Given the description of an element on the screen output the (x, y) to click on. 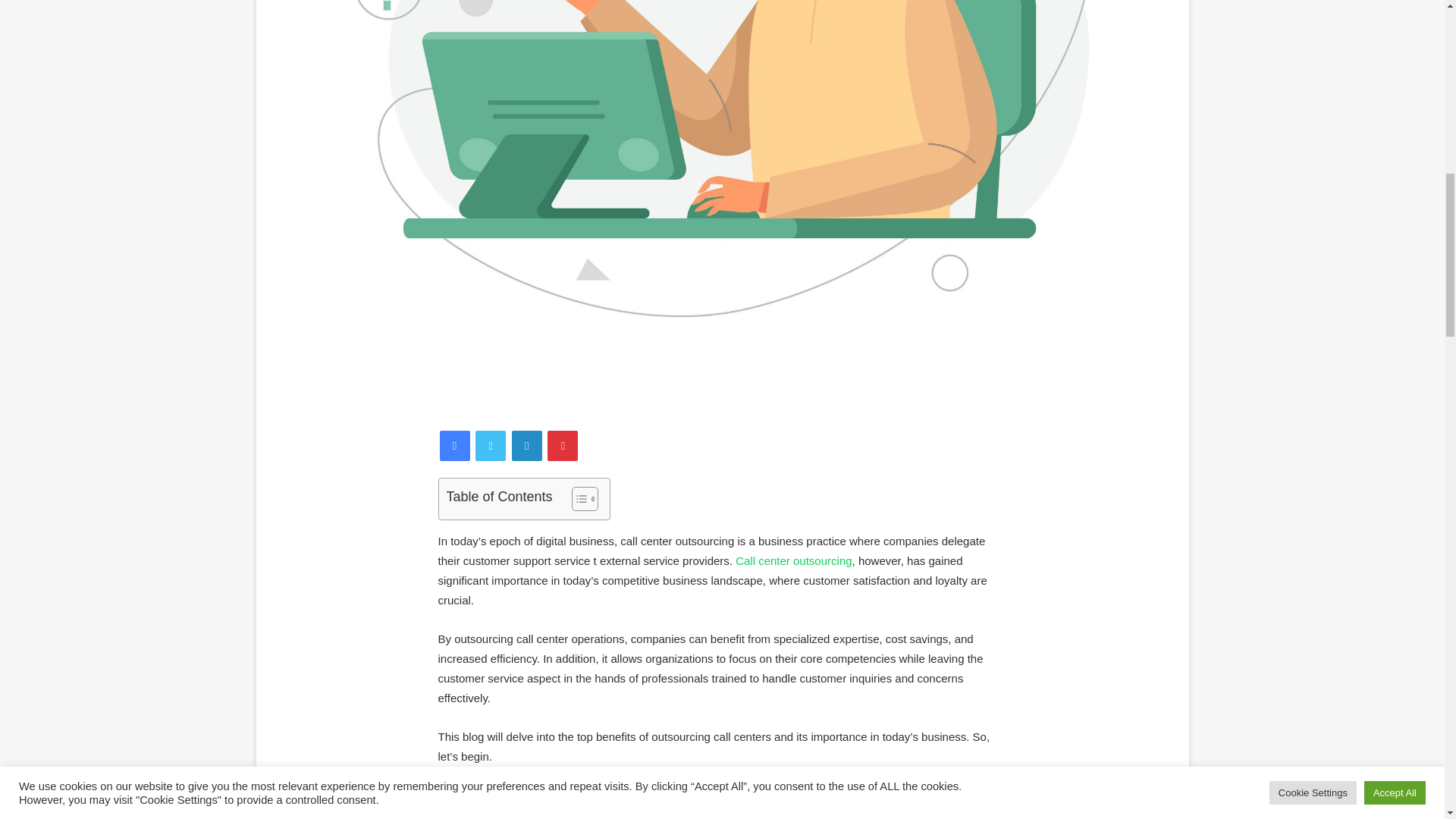
Call center outsourcing (793, 560)
Twitter (490, 445)
Twitter (490, 445)
Facebook (454, 445)
LinkedIn (526, 445)
Pinterest (562, 445)
Facebook (454, 445)
Pinterest (562, 445)
LinkedIn (526, 445)
